Given the description of an element on the screen output the (x, y) to click on. 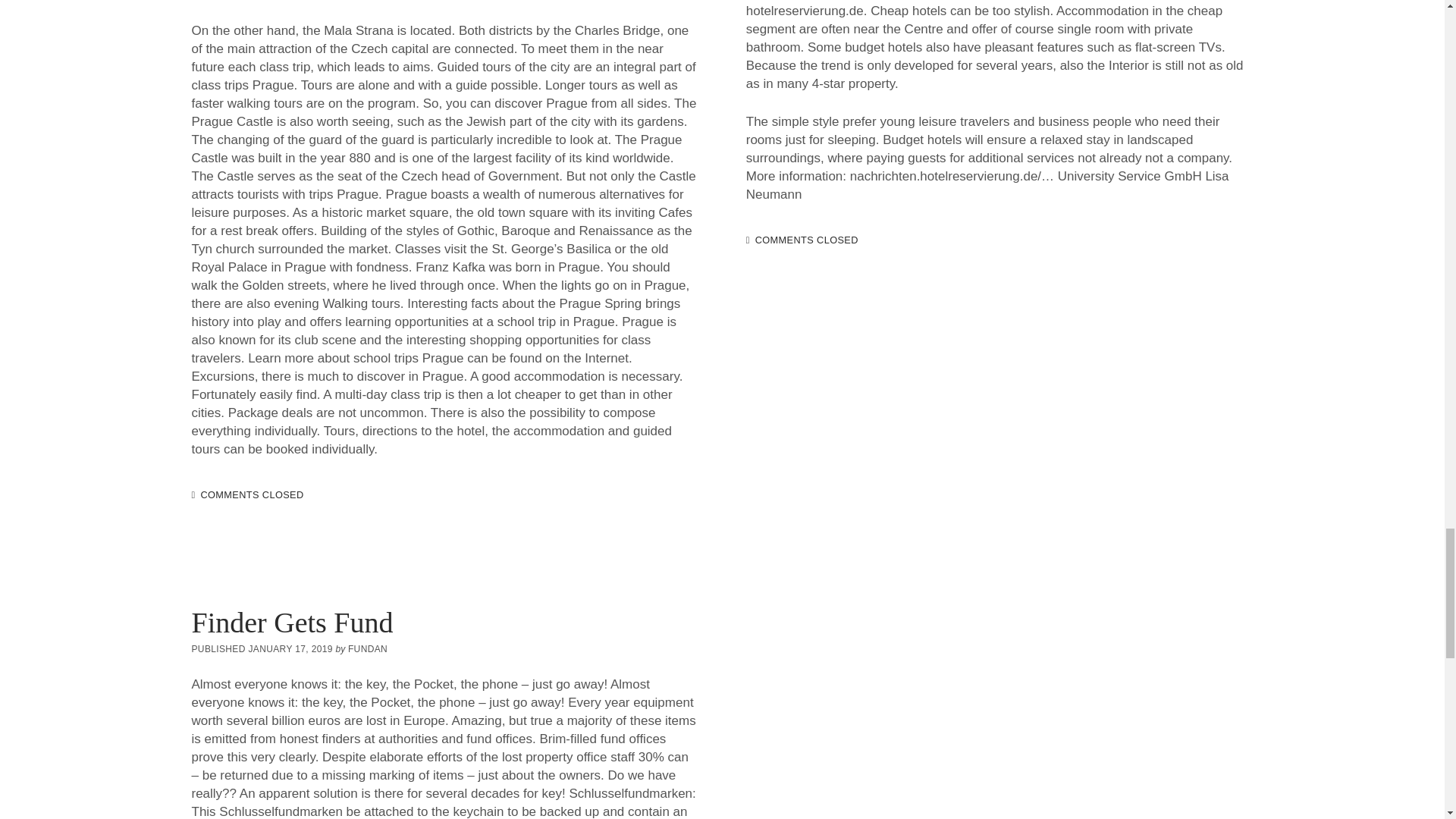
comment icon (192, 495)
comment icon (747, 240)
Finder Gets Fund (291, 622)
